Given the description of an element on the screen output the (x, y) to click on. 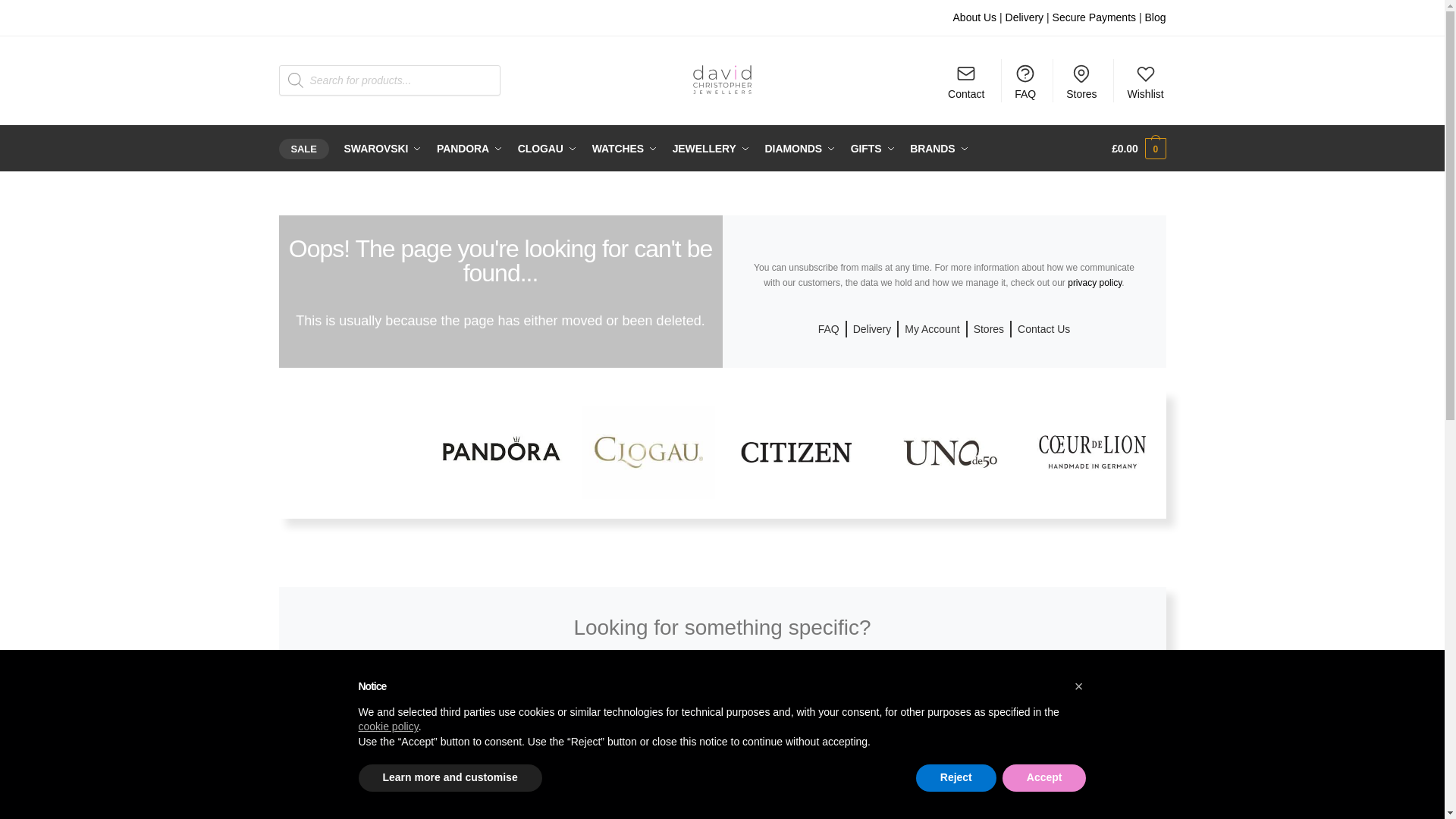
FAQ (1025, 80)
Stores (1081, 80)
Secure Payments (1094, 17)
Blog (1155, 17)
PANDORA (469, 148)
Wishlist (1145, 80)
View your shopping cart (1139, 148)
SALE (306, 148)
Contact (966, 80)
About Us (975, 17)
Delivery (1024, 17)
SWAROVSKI (382, 148)
